Given the description of an element on the screen output the (x, y) to click on. 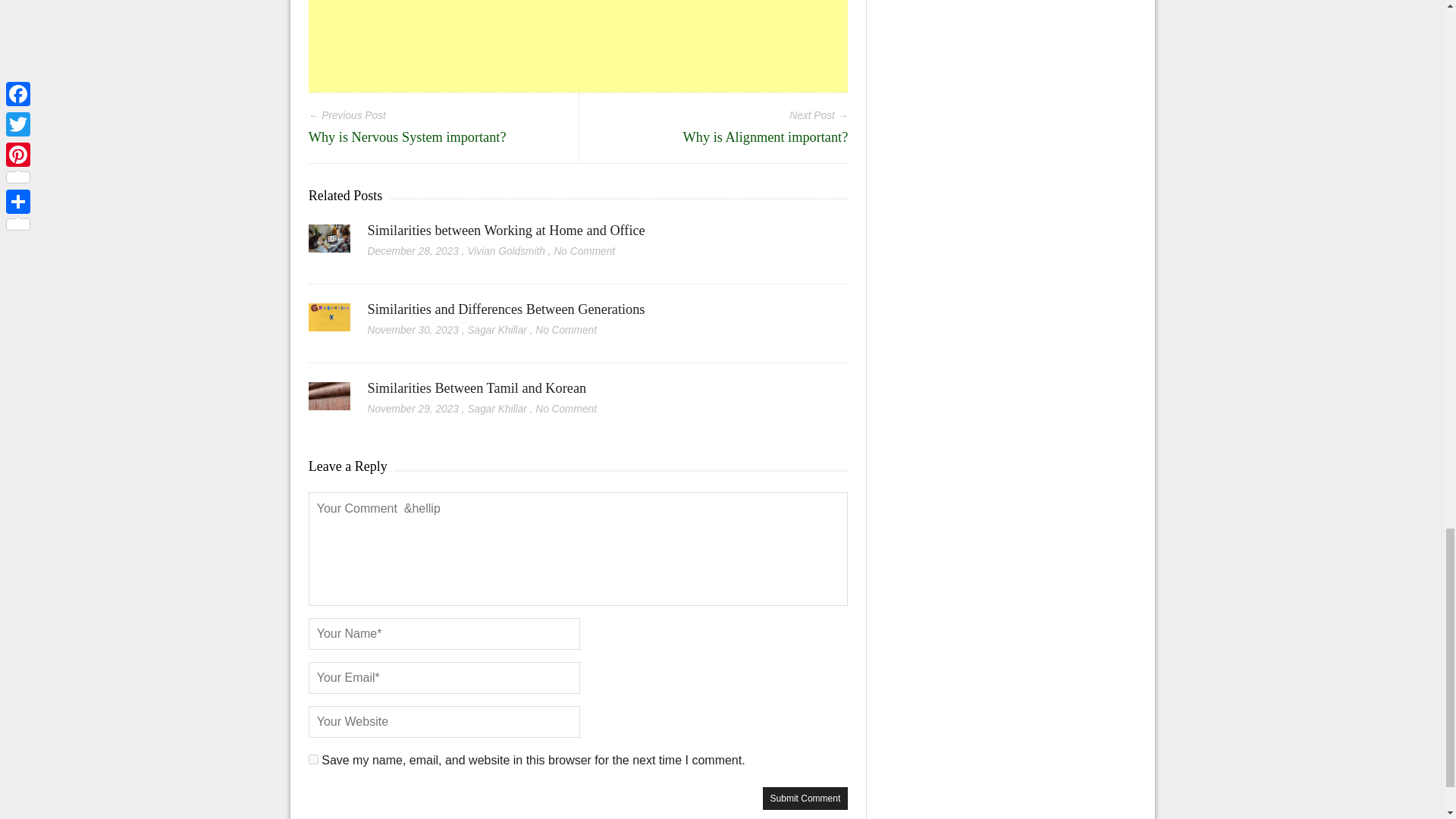
Similarities between Working at Home and Office (506, 230)
Advertisement (578, 46)
Similarities Between Tamil and Korean (329, 401)
Similarities and Differences Between Generations (329, 322)
yes (313, 759)
Similarities and Differences Between Generations (506, 309)
Sagar Khillar (496, 329)
Similarities between Working at Home and Office (506, 230)
Similarities and Differences Between Generations (506, 309)
No Comment (583, 251)
Vivian Goldsmith (505, 251)
Submit Comment (805, 798)
Posts by Sagar Khillar (496, 329)
Posts by Vivian Goldsmith (505, 251)
Similarities between Working at Home and Office (329, 243)
